Given the description of an element on the screen output the (x, y) to click on. 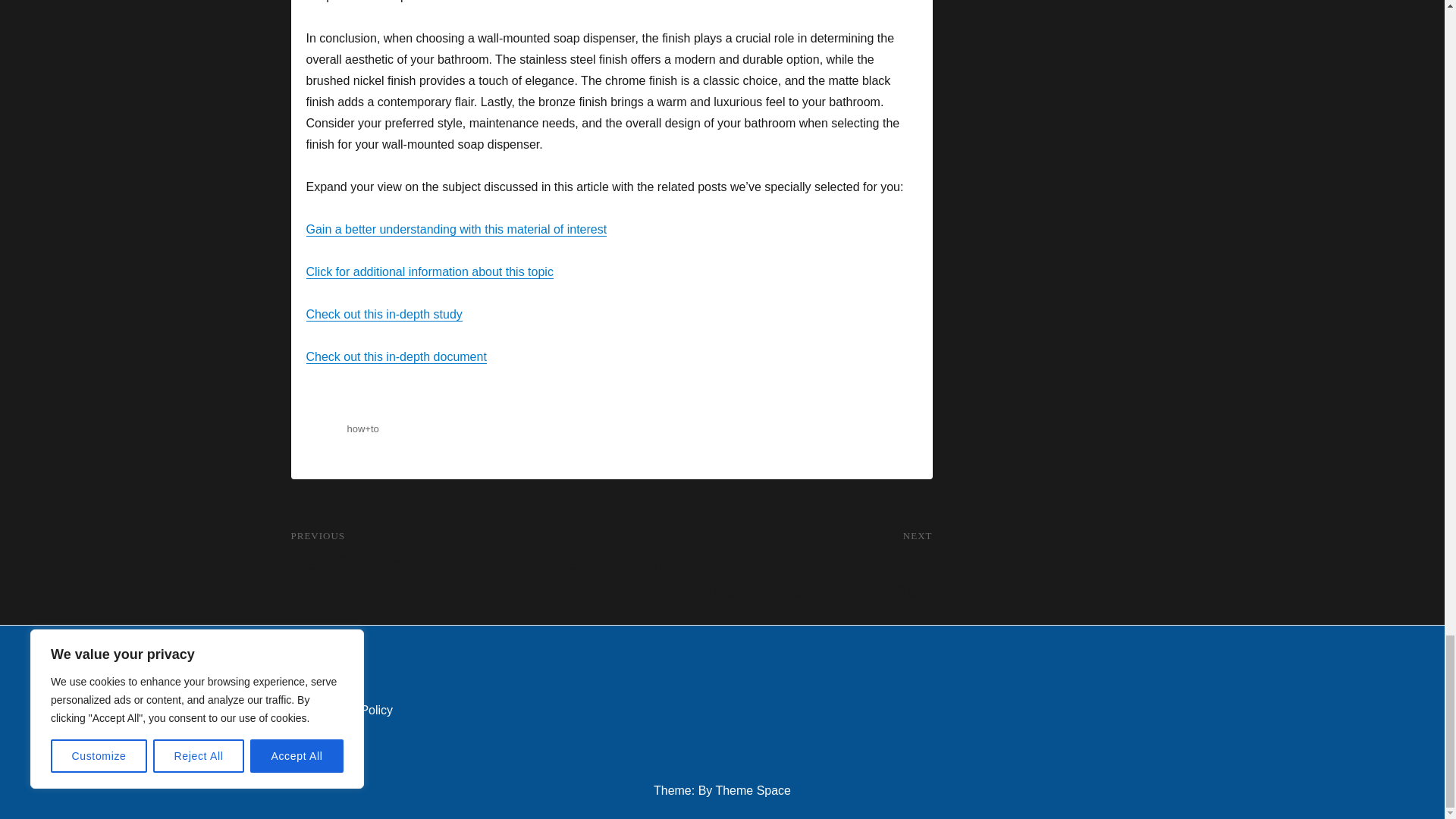
Check out this in-depth document (451, 552)
Check out this in-depth study (395, 356)
Gain a better understanding with this material of interest (384, 314)
Click for additional information about this topic (456, 228)
